Given the description of an element on the screen output the (x, y) to click on. 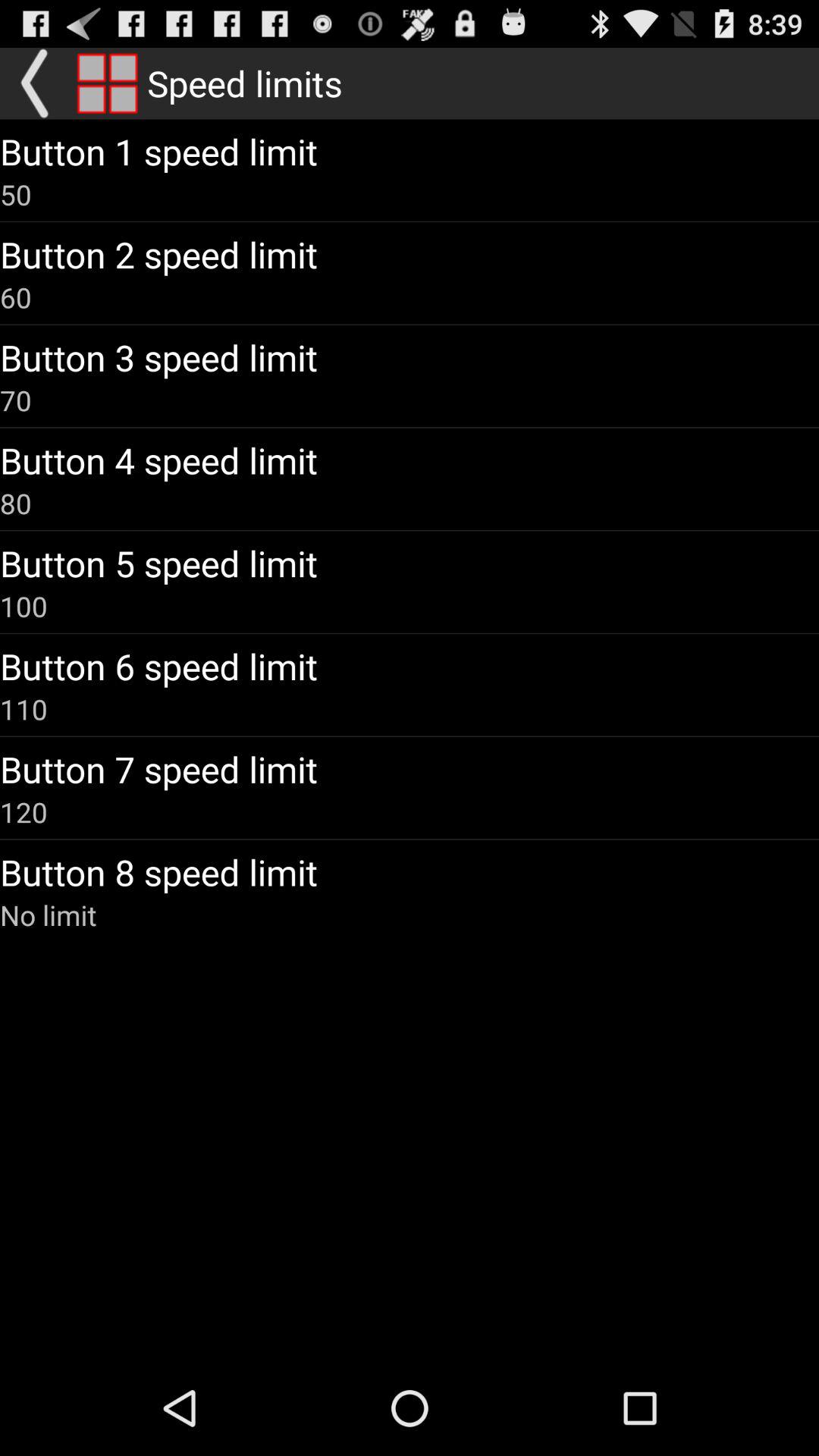
tap icon below the button 3 speed (15, 400)
